Given the description of an element on the screen output the (x, y) to click on. 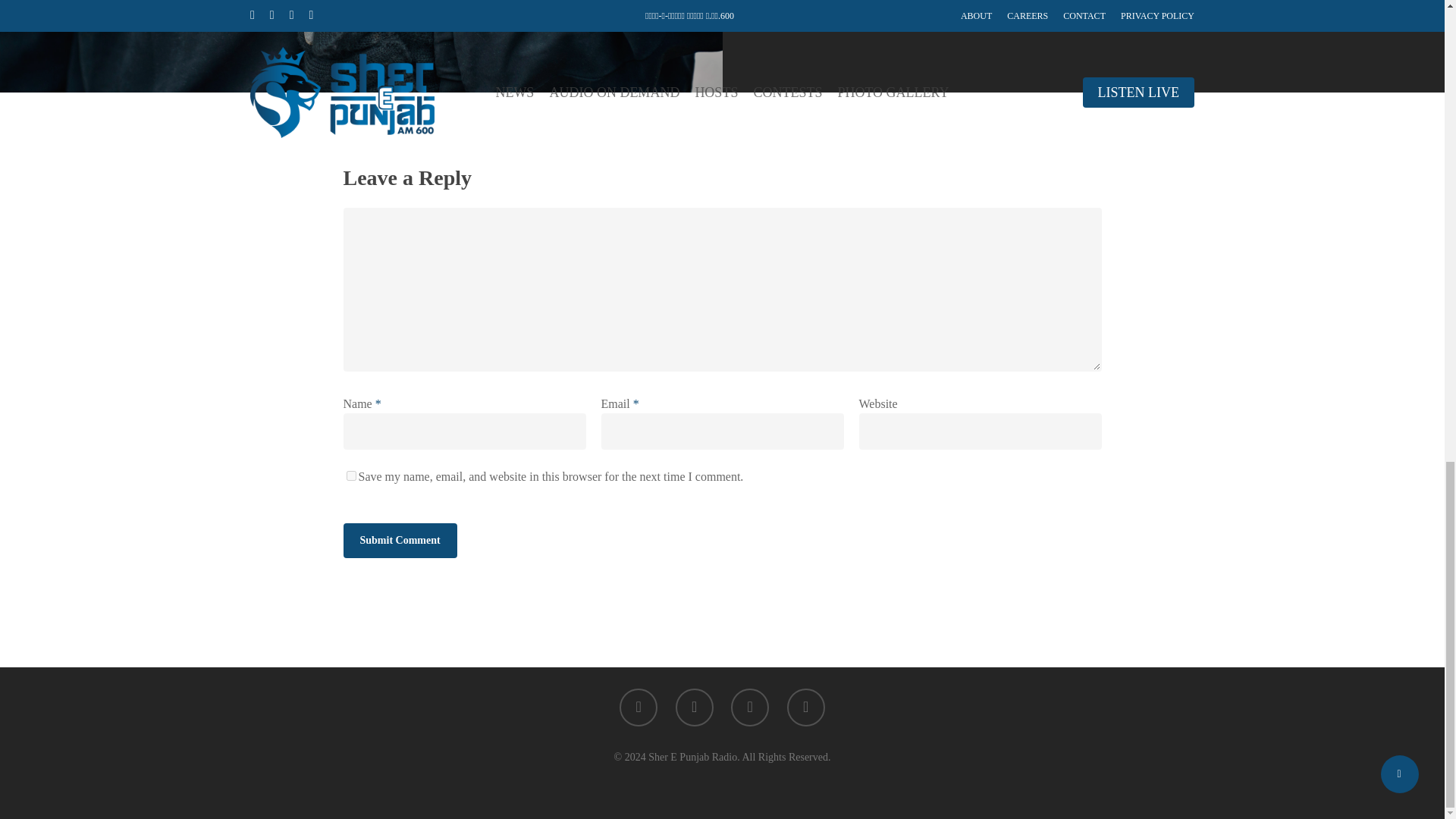
yes (350, 475)
Submit Comment (399, 540)
Submit Comment (399, 540)
